Given the description of an element on the screen output the (x, y) to click on. 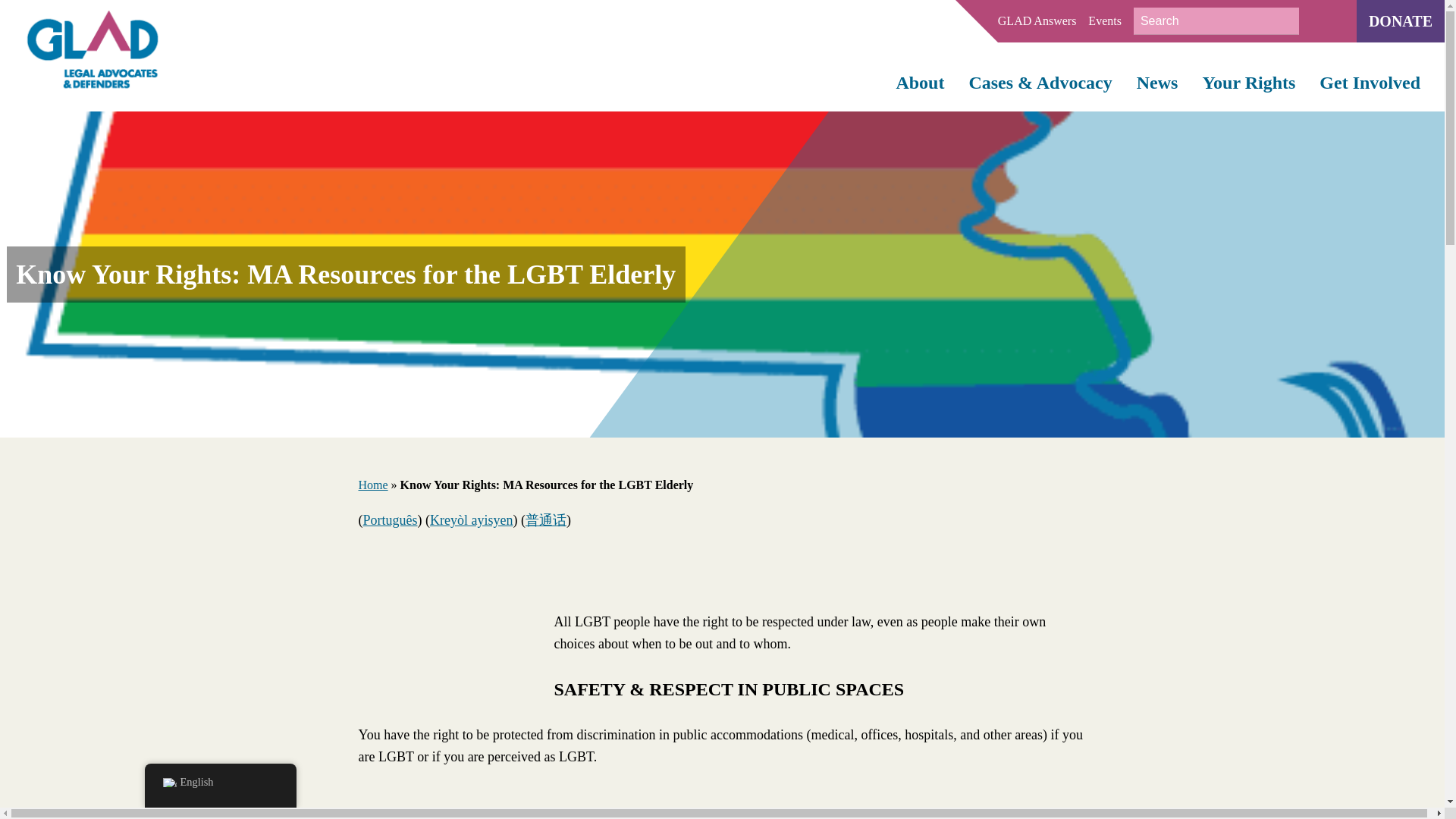
Get Involved (1370, 82)
English (168, 782)
GLAD Answers (1037, 21)
News (1157, 82)
Your Rights (1248, 82)
About (919, 82)
DONATE (1400, 21)
